Given the description of an element on the screen output the (x, y) to click on. 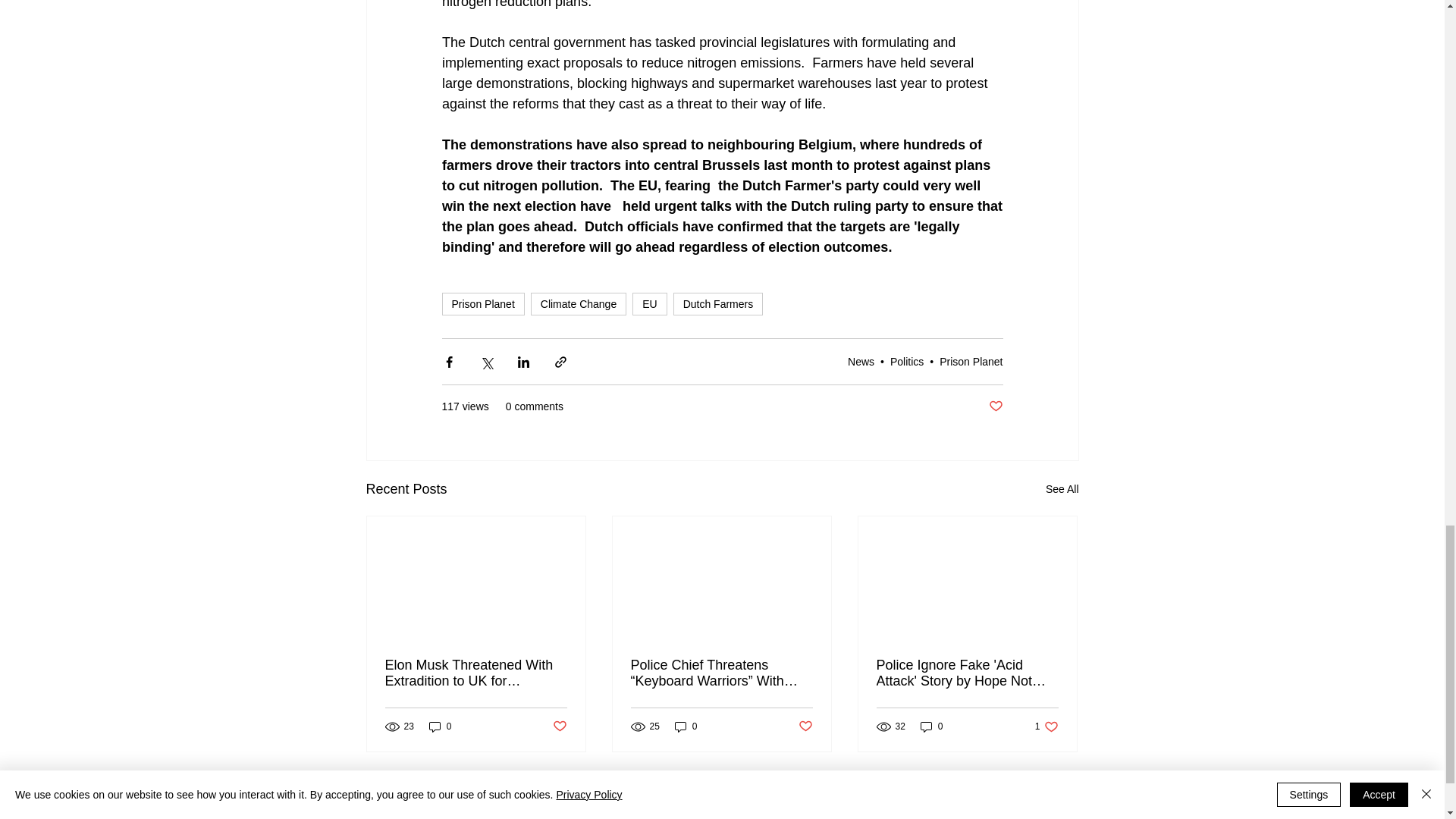
Dutch Farmers (717, 303)
Post not marked as liked (995, 406)
0 (931, 726)
Post not marked as liked (804, 726)
Climate Change (1046, 726)
Prison Planet (578, 303)
Post not marked as liked (971, 361)
EU (558, 726)
